Given the description of an element on the screen output the (x, y) to click on. 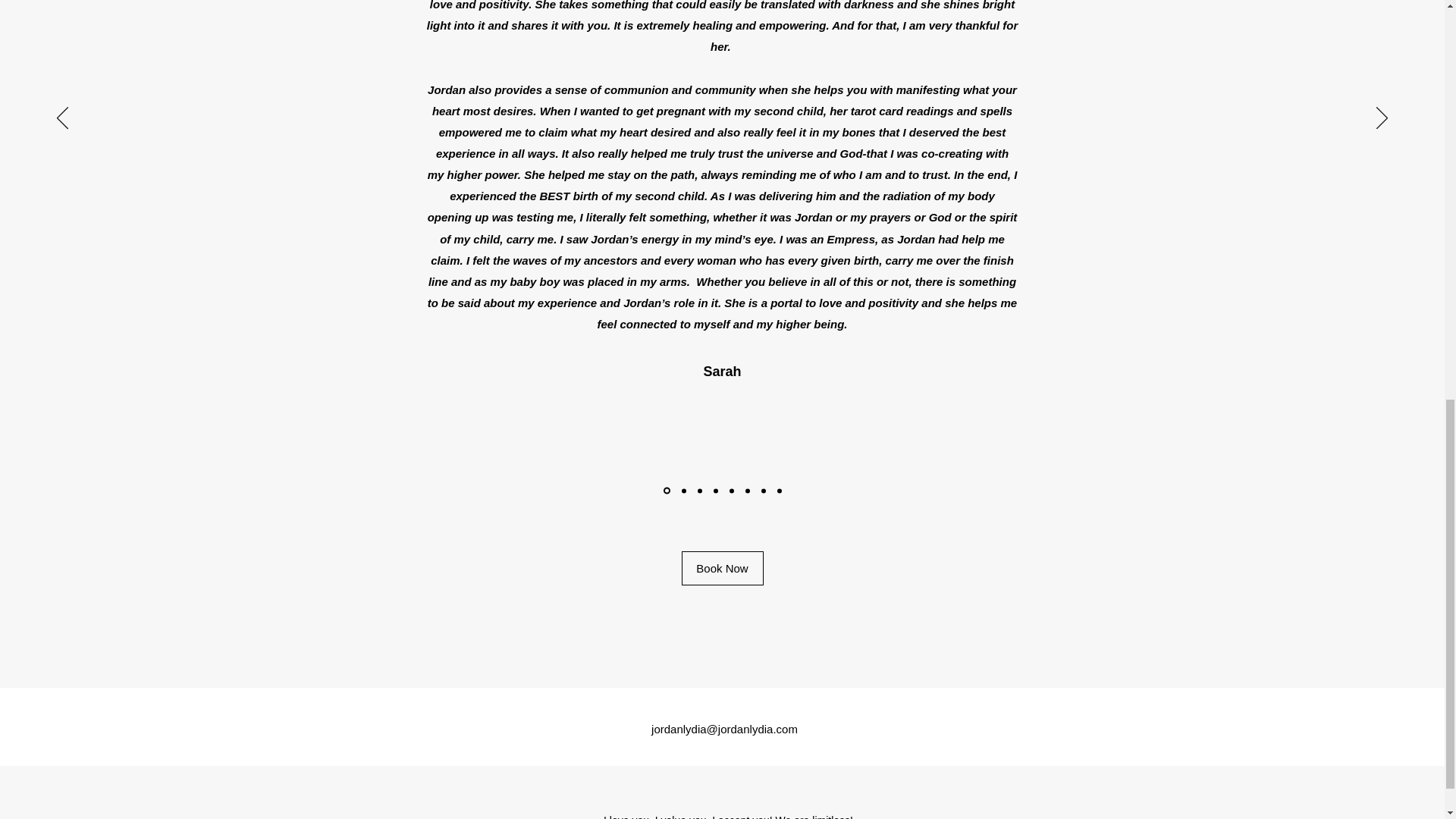
Book Now (721, 568)
